Given the description of an element on the screen output the (x, y) to click on. 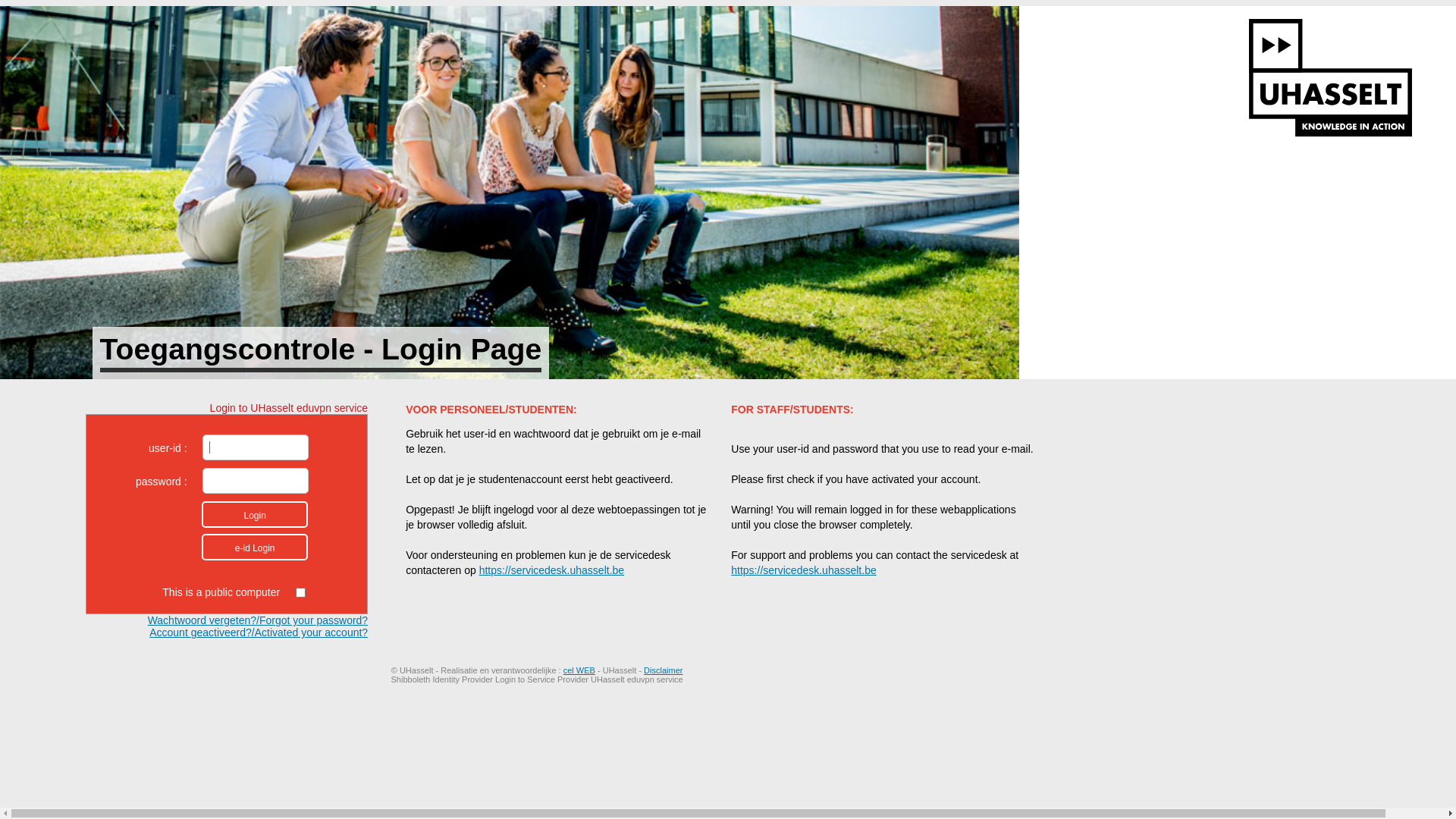
Wachtwoord vergeten?/Forgot your password? Element type: text (257, 620)
cel WEB Element type: text (579, 669)
Login Element type: text (254, 514)
Nieuws Element type: hover (509, 189)
https://servicedesk.uhasselt.be Element type: text (551, 570)
https://servicedesk.uhasselt.be Element type: text (803, 570)
Account geactiveerd?/Activated your account? Element type: text (258, 632)
Disclaimer Element type: text (662, 669)
e-id Login Element type: text (254, 546)
